Given the description of an element on the screen output the (x, y) to click on. 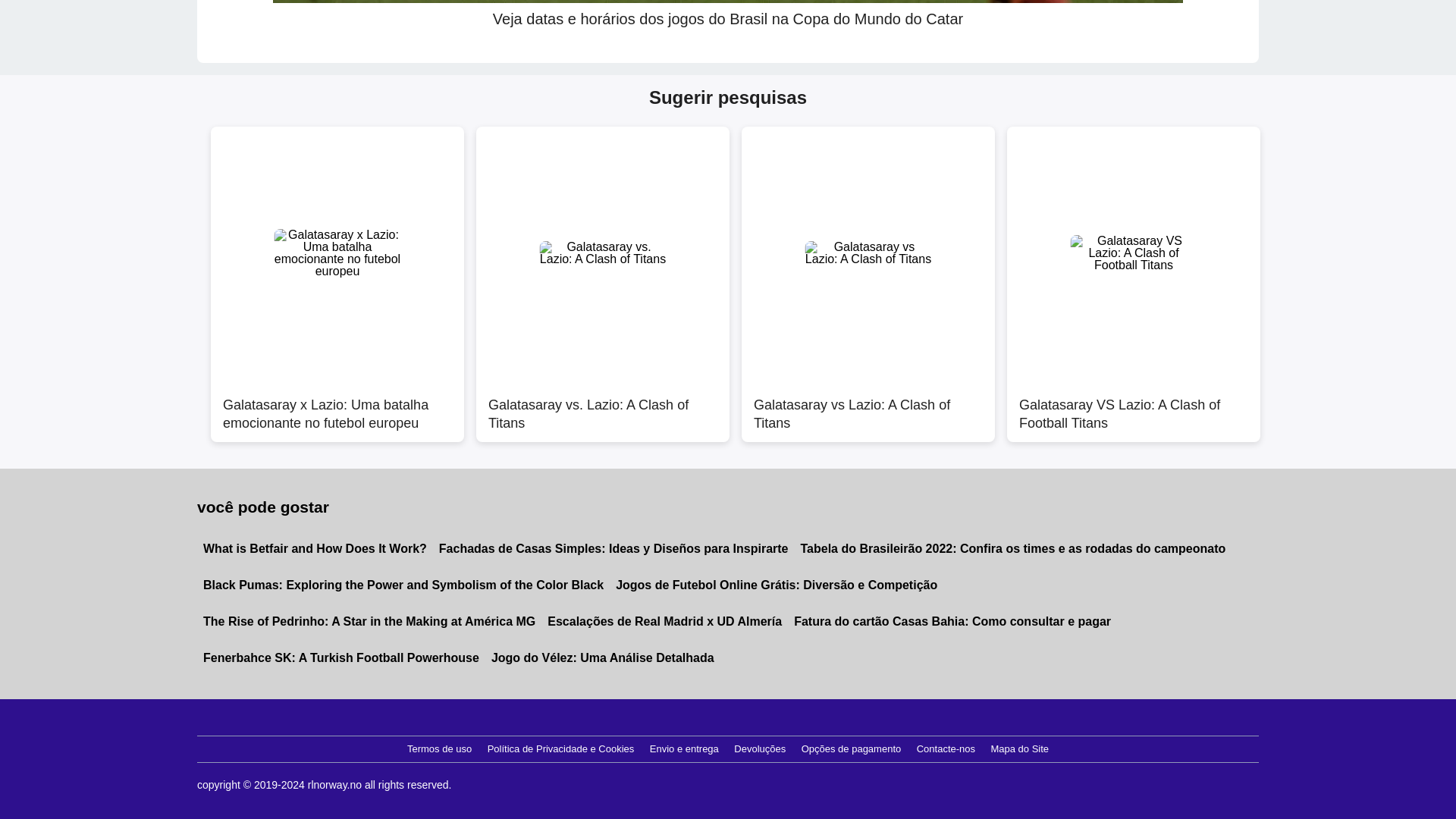
Mapa do Site (1019, 749)
Contacte-nos (946, 749)
Envio e entrega (684, 749)
Galatasaray VS Lazio: A Clash of Football Titans (1133, 406)
What is Betfair and How Does It Work? (314, 548)
Fenerbahce SK: A Turkish Football Powerhouse (340, 657)
Galatasaray vs. Lazio: A Clash of Titans (602, 406)
Galatasaray vs Lazio: A Clash of Titans (867, 406)
Termos de uso (439, 749)
